Given the description of an element on the screen output the (x, y) to click on. 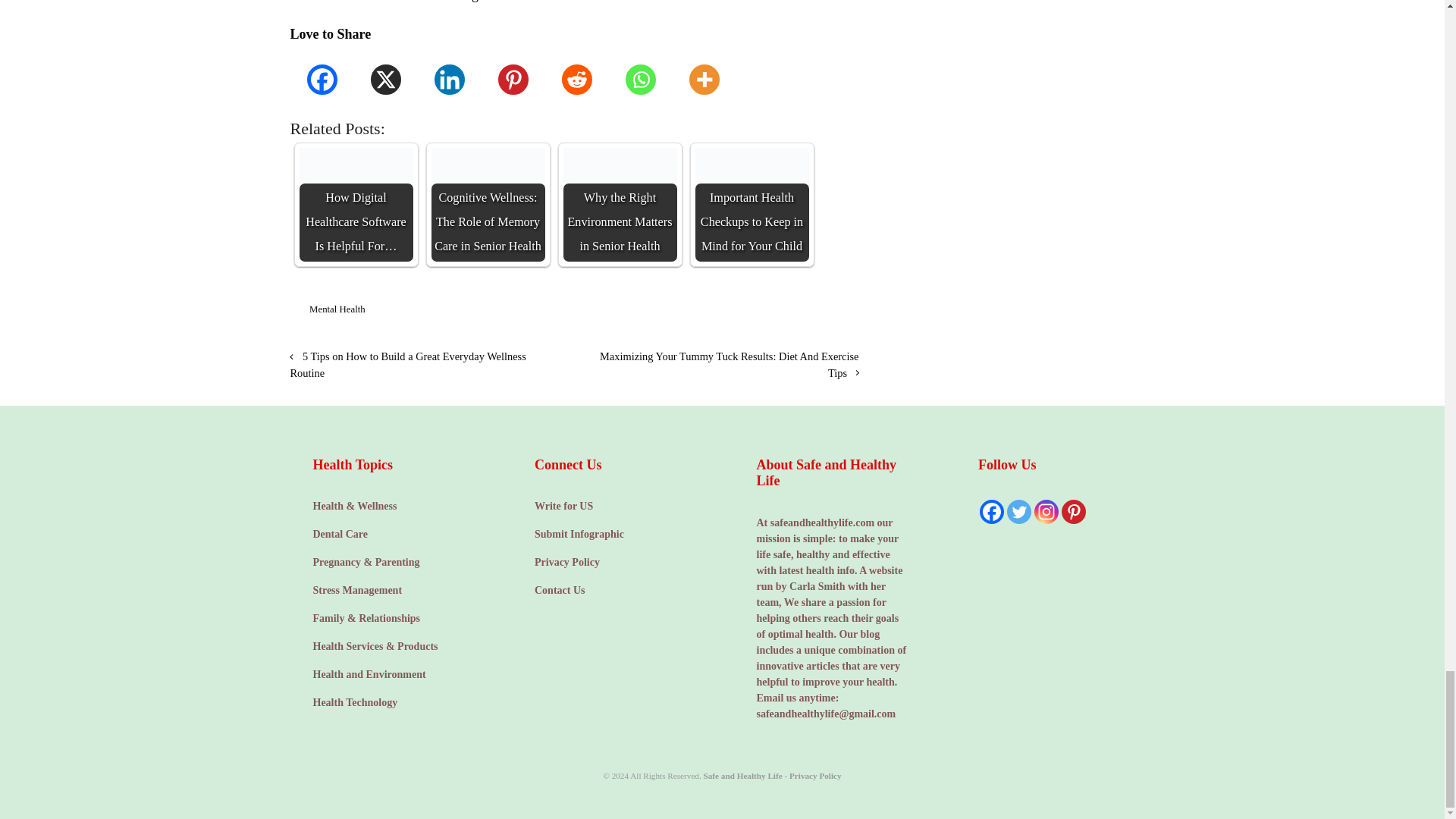
Cognitive Wellness: The Role of Memory Care in Senior Health (487, 204)
Why the Right Environment Matters in Senior Health (619, 204)
Share on Twitter (764, 313)
Cognitive Wellness: The Role of Memory Care in Senior Health (487, 204)
More (702, 79)
Reddit (576, 79)
Whatsapp (639, 79)
X (384, 79)
Important Health Checkups to Keep in Mind for Your Child (751, 204)
Mental Health (336, 308)
